Given the description of an element on the screen output the (x, y) to click on. 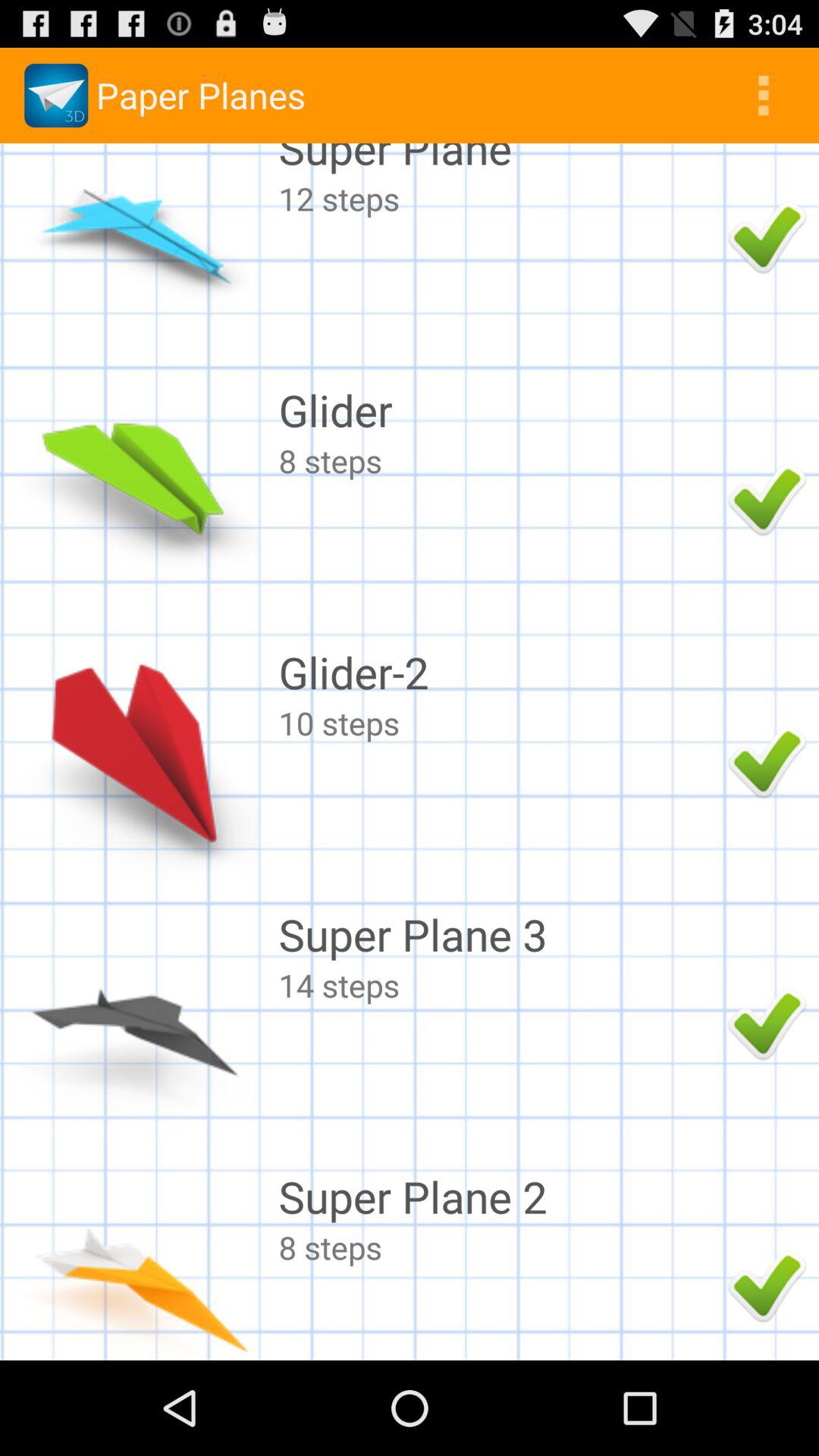
press the 14 steps item (498, 984)
